Given the description of an element on the screen output the (x, y) to click on. 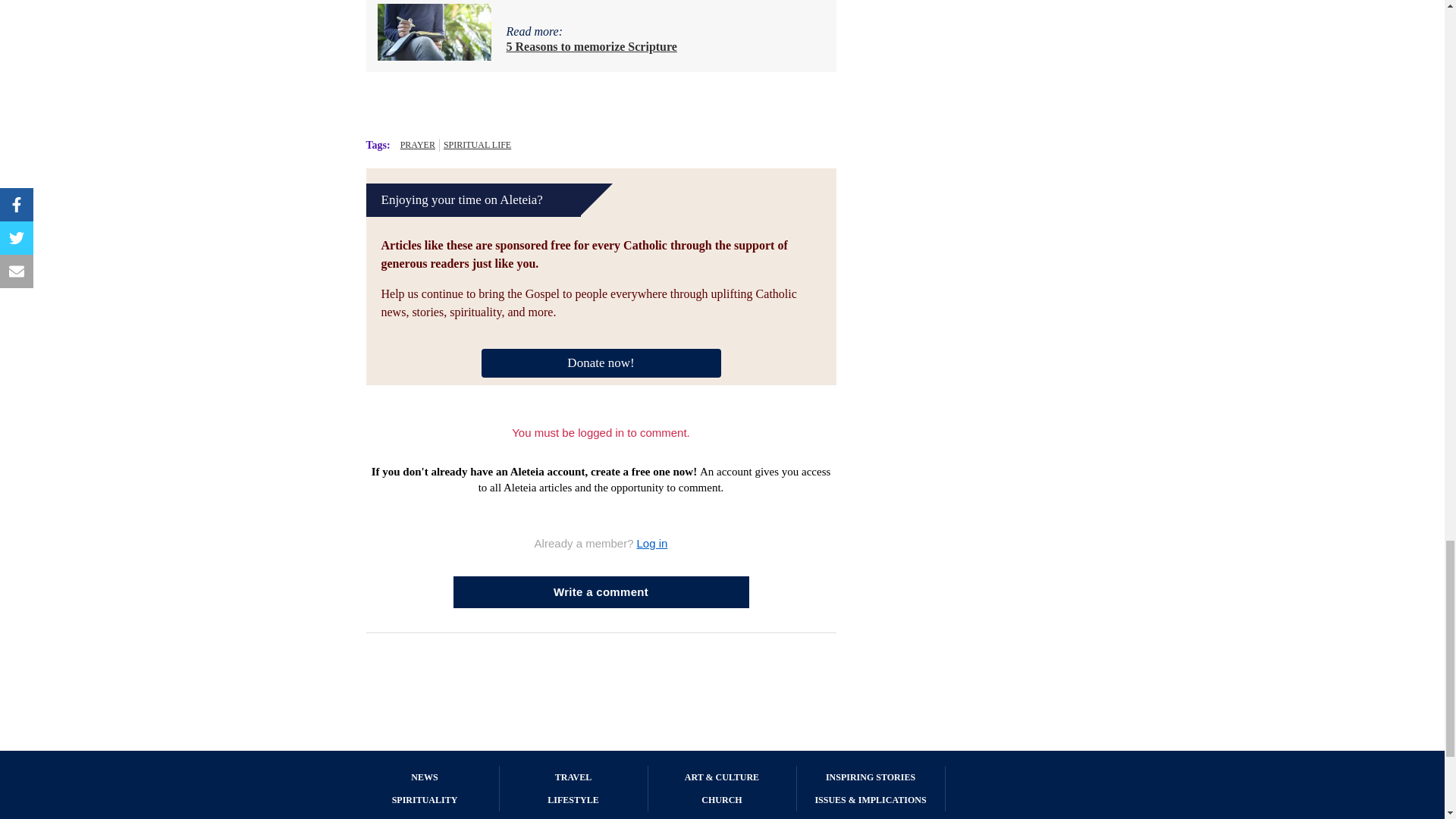
5 Reasons to memorize Scripture (591, 46)
